Given the description of an element on the screen output the (x, y) to click on. 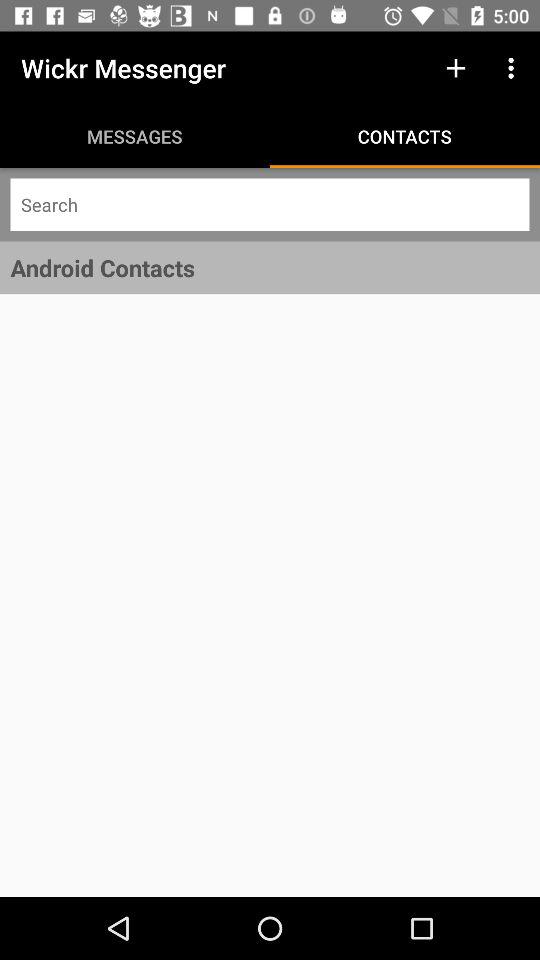
select the icon above contacts (455, 67)
